Given the description of an element on the screen output the (x, y) to click on. 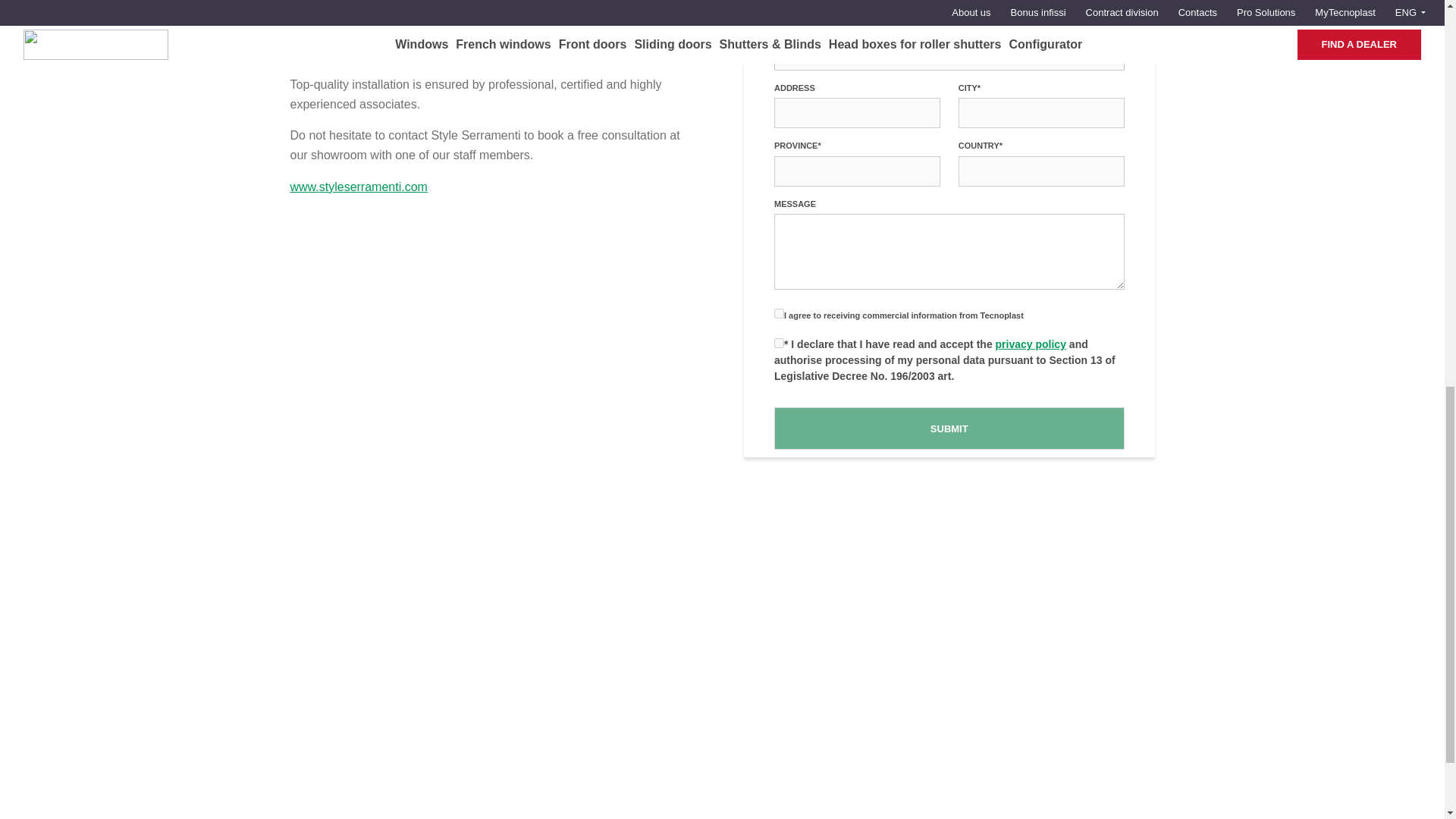
1 (779, 343)
SUBMIT (949, 428)
I agree to receiving commercial information from Tecnoplast (779, 313)
